Given the description of an element on the screen output the (x, y) to click on. 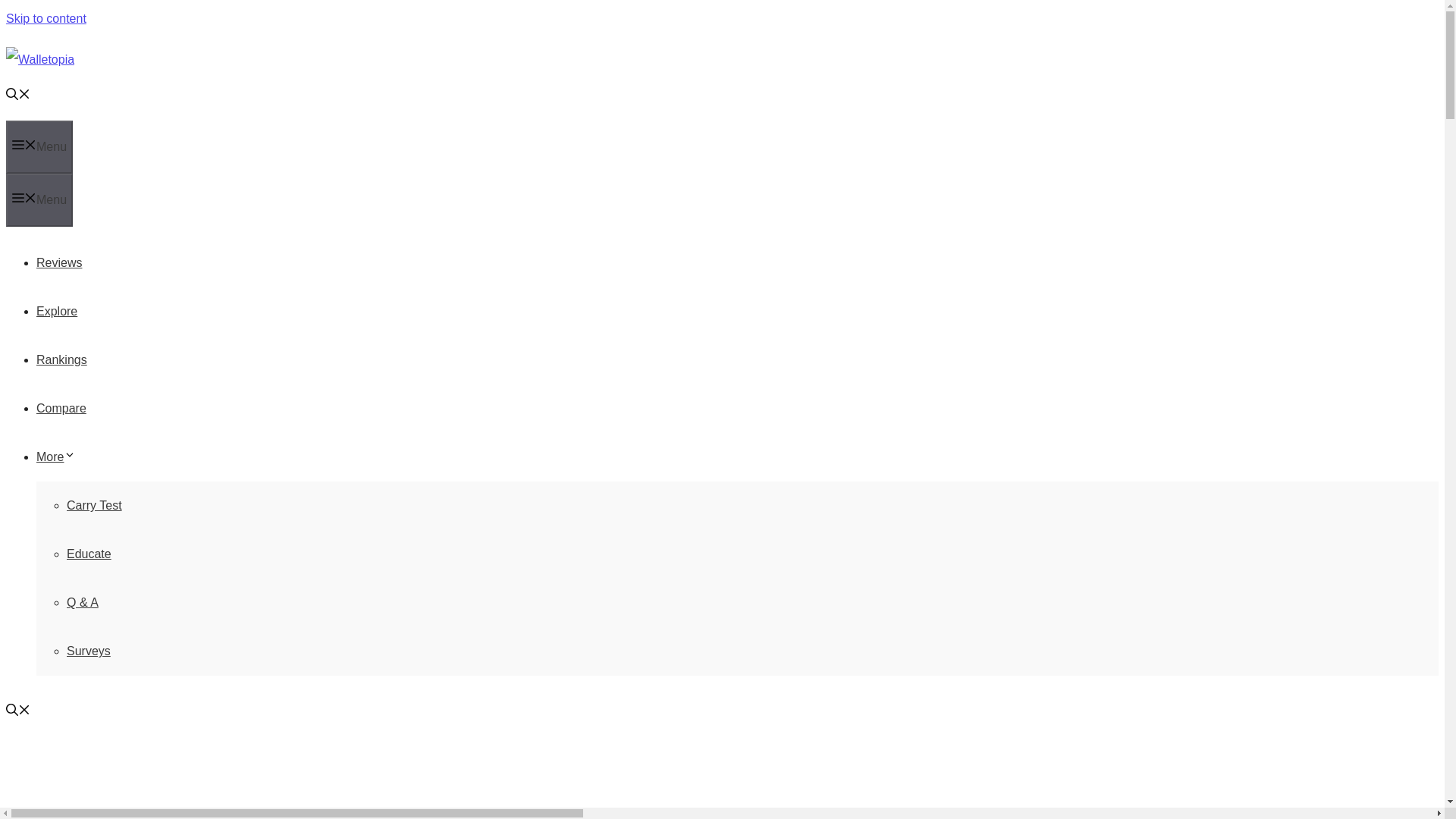
Skip to content (45, 18)
Skip to content (45, 18)
Compare (60, 408)
Menu (38, 146)
Surveys (88, 650)
Carry Test (94, 504)
Educate (89, 553)
Reviews (58, 262)
Rankings (61, 359)
Menu (38, 199)
